Given the description of an element on the screen output the (x, y) to click on. 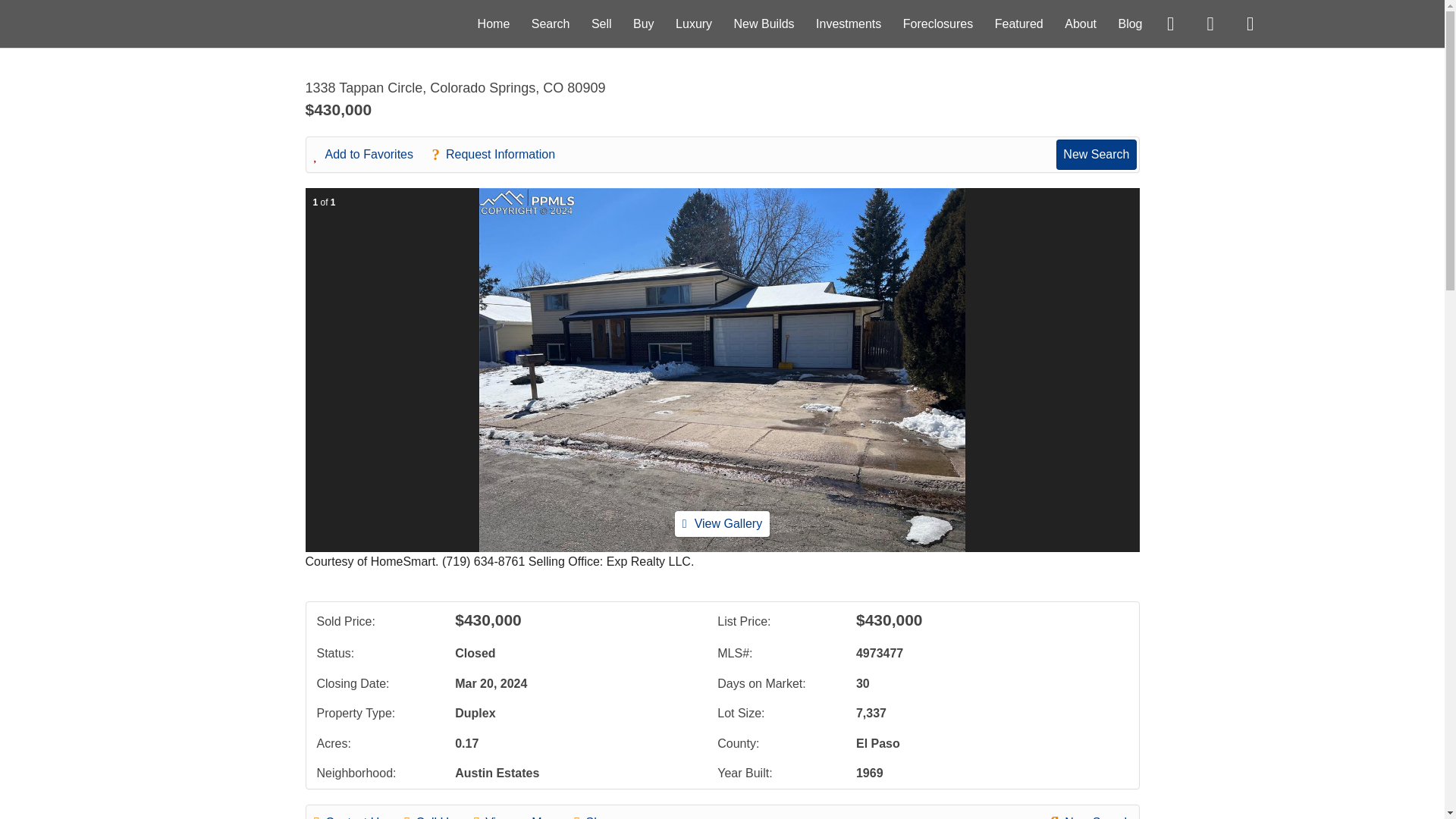
View Gallery (722, 522)
New Search (1096, 154)
Home (494, 23)
View Gallery (722, 524)
Luxury (693, 23)
Blog (1129, 23)
Sell (601, 23)
Buy (643, 23)
Contact Us (357, 815)
New Search (1090, 815)
